Given the description of an element on the screen output the (x, y) to click on. 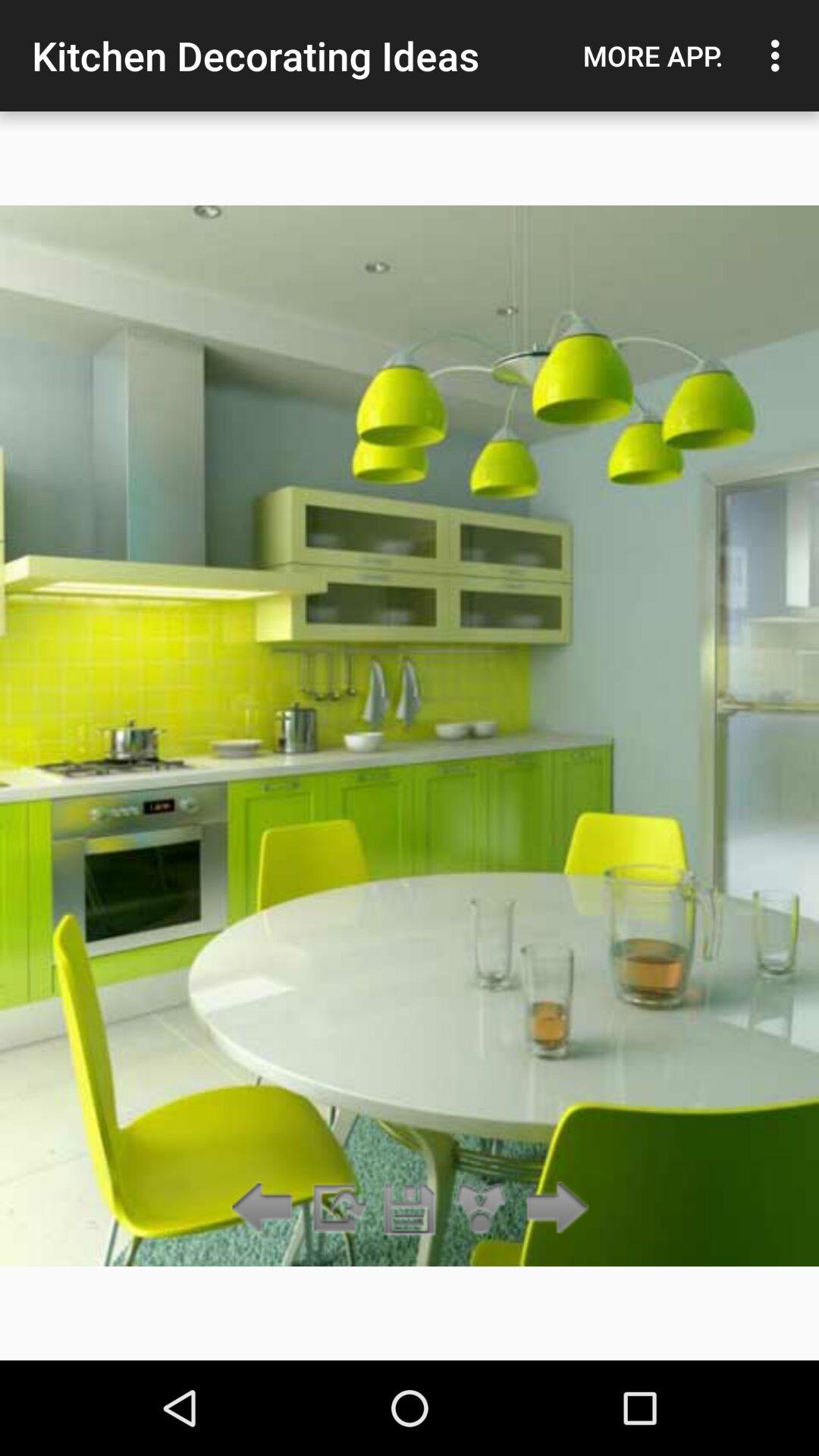
tap the item below the more app. (552, 1209)
